Given the description of an element on the screen output the (x, y) to click on. 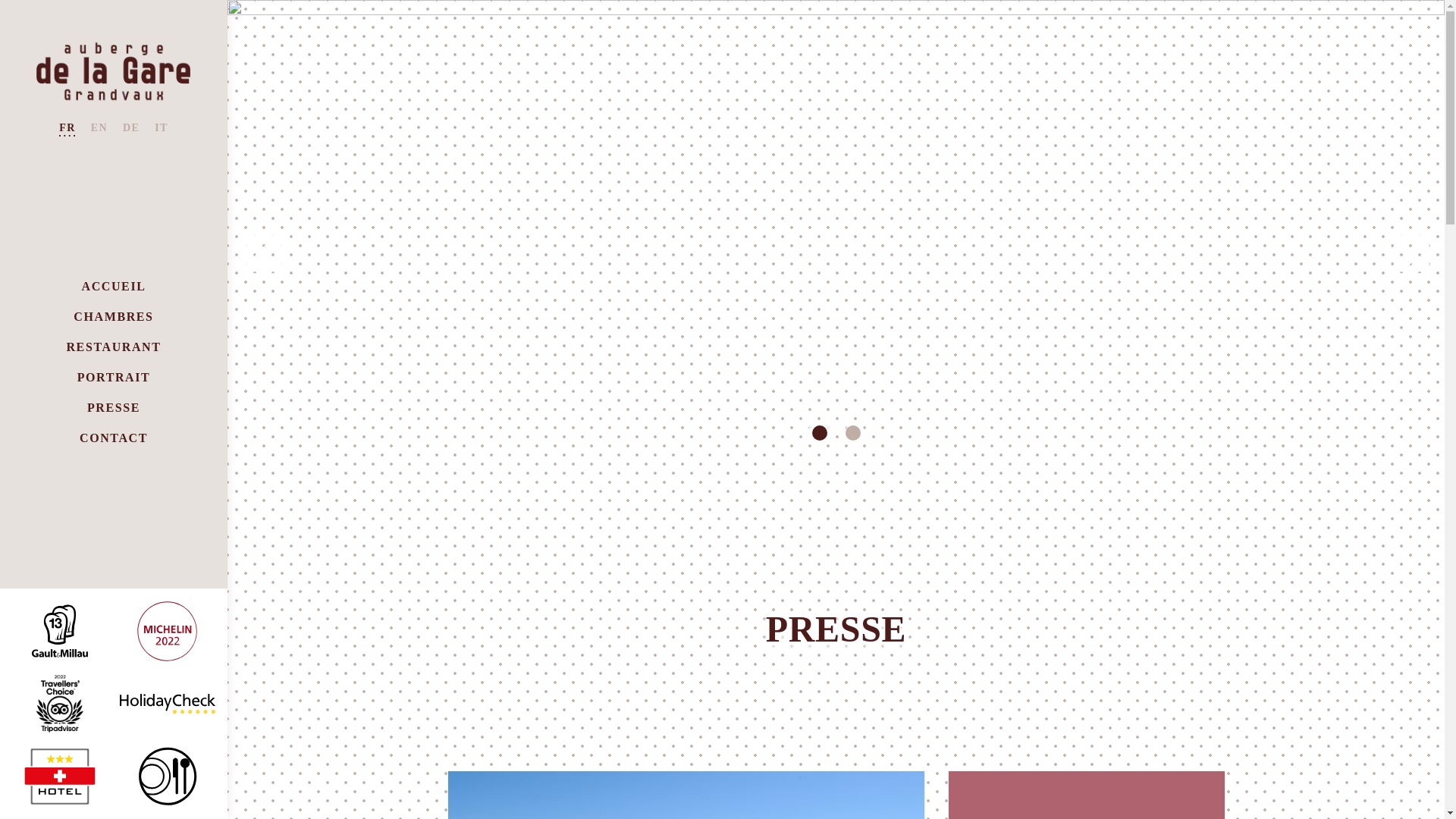
EN Element type: text (99, 128)
IT Element type: text (161, 128)
CHAMBRES Element type: text (113, 317)
CONTACT Element type: text (113, 438)
DE Element type: text (130, 128)
PORTRAIT Element type: text (113, 377)
RESTAURANT Element type: text (112, 347)
Aller au contenu principal Element type: text (0, 0)
PRESSE Element type: text (113, 408)
ACCUEIL Element type: text (113, 286)
FR Element type: text (67, 128)
